Given the description of an element on the screen output the (x, y) to click on. 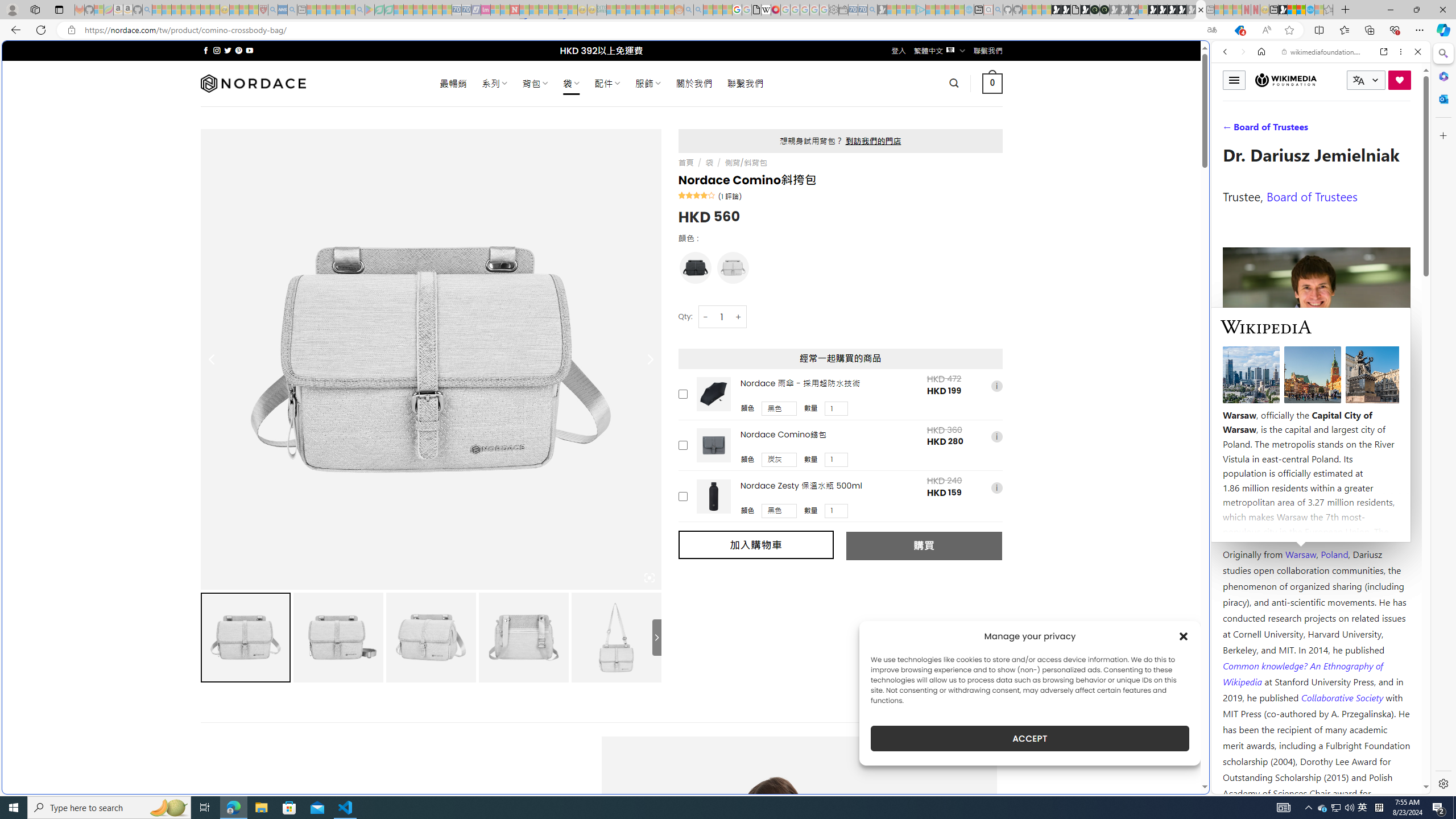
utah sues federal government - Search - Sleeping (291, 9)
Follow on YouTube (249, 50)
Follow on Instagram (216, 50)
i (996, 487)
